Given the description of an element on the screen output the (x, y) to click on. 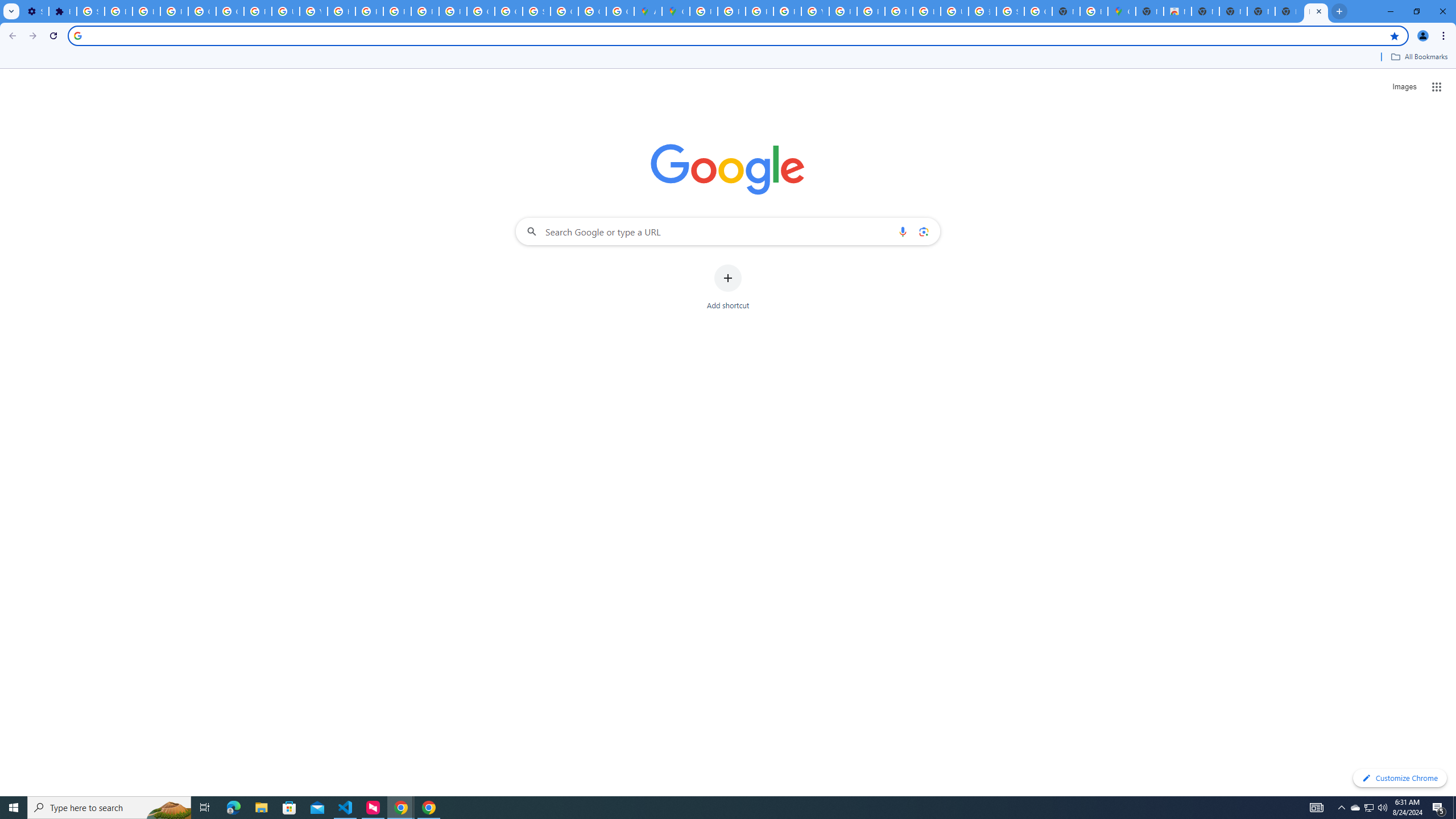
Sign in - Google Accounts (536, 11)
Search Google or type a URL (727, 230)
Privacy Help Center - Policies Help (369, 11)
Google Maps (675, 11)
Search icon (77, 35)
YouTube (815, 11)
Explore new street-level details - Google Maps Help (1093, 11)
All Bookmarks (1418, 56)
